Given the description of an element on the screen output the (x, y) to click on. 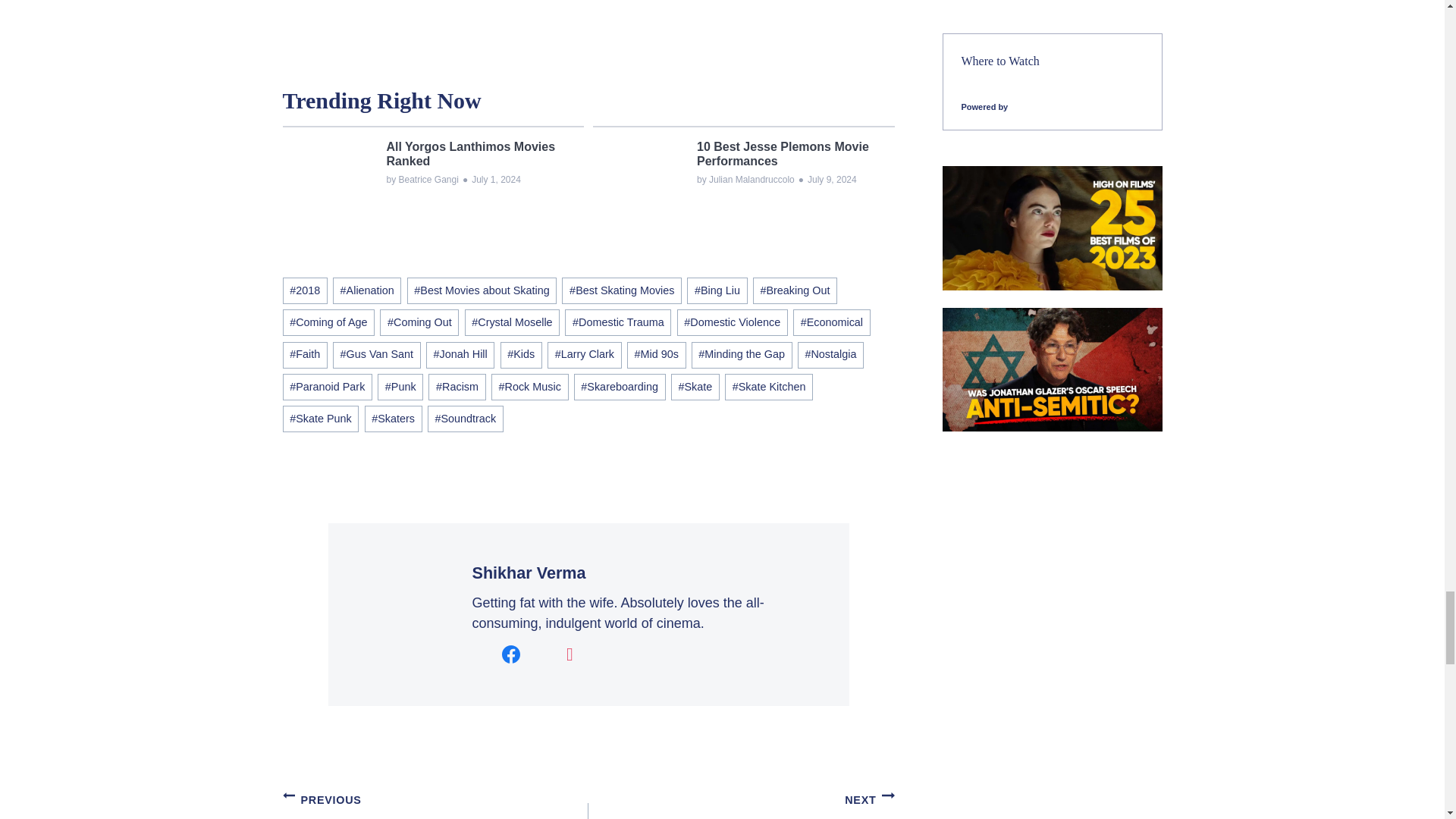
Best Skating Movies (621, 290)
Economical (831, 322)
Faith (304, 355)
Domestic Violence (732, 322)
Breaking Out (794, 290)
Bing Liu (716, 290)
Crystal Moselle (512, 322)
Coming of Age (328, 322)
Alienation (367, 290)
Best Movies about Skating (482, 290)
